Given the description of an element on the screen output the (x, y) to click on. 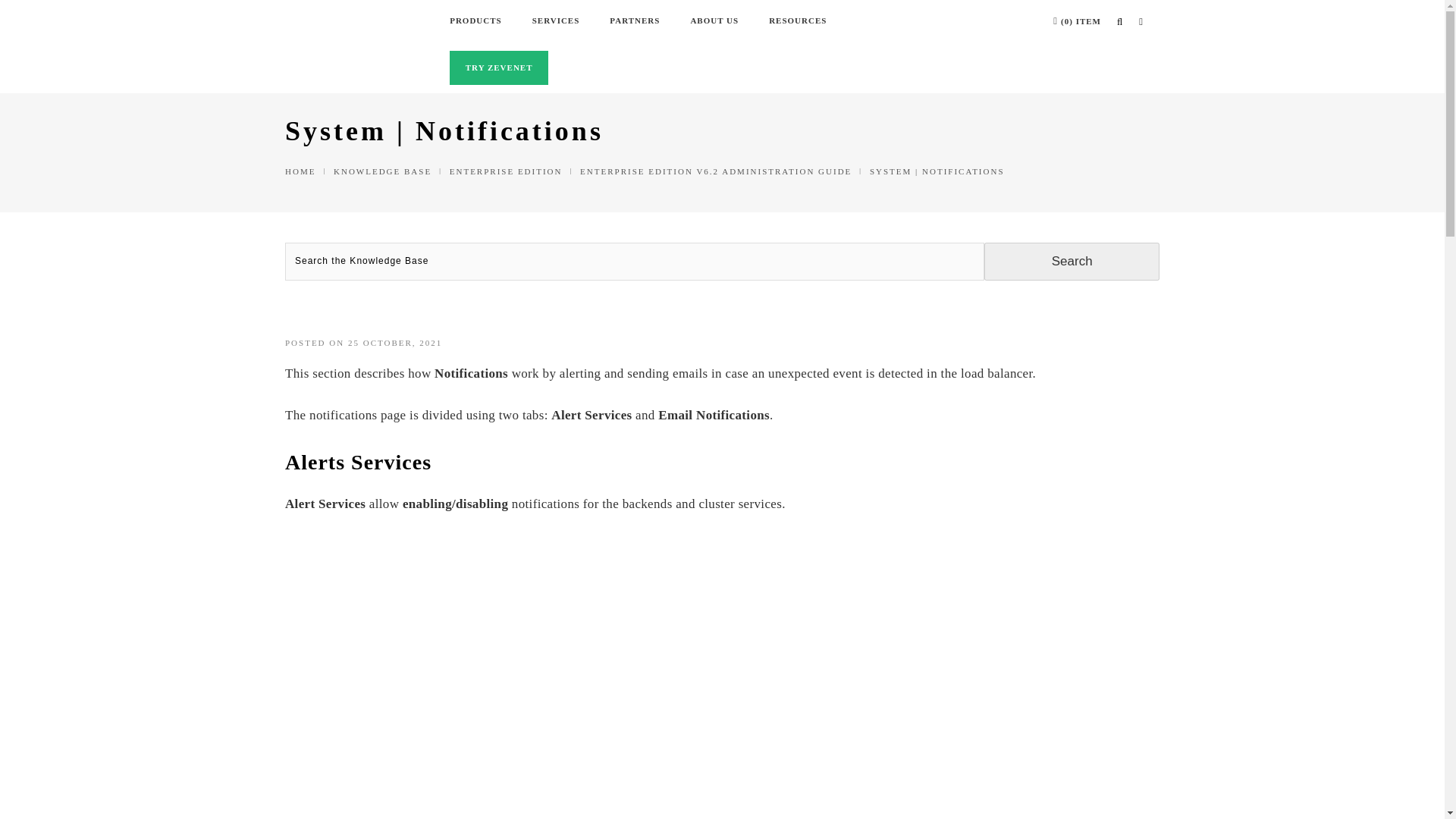
SERVICES (555, 21)
Browse to: Enterprise Edition v6.2 Administration Guide (715, 171)
Browse to: Knowledge Base (381, 171)
Browse to: Enterprise Edition (505, 171)
Browse to: Home (300, 171)
RESOURCES (797, 21)
PARTNERS (634, 21)
PRODUCTS (475, 21)
ABOUT US (714, 21)
